Given the description of an element on the screen output the (x, y) to click on. 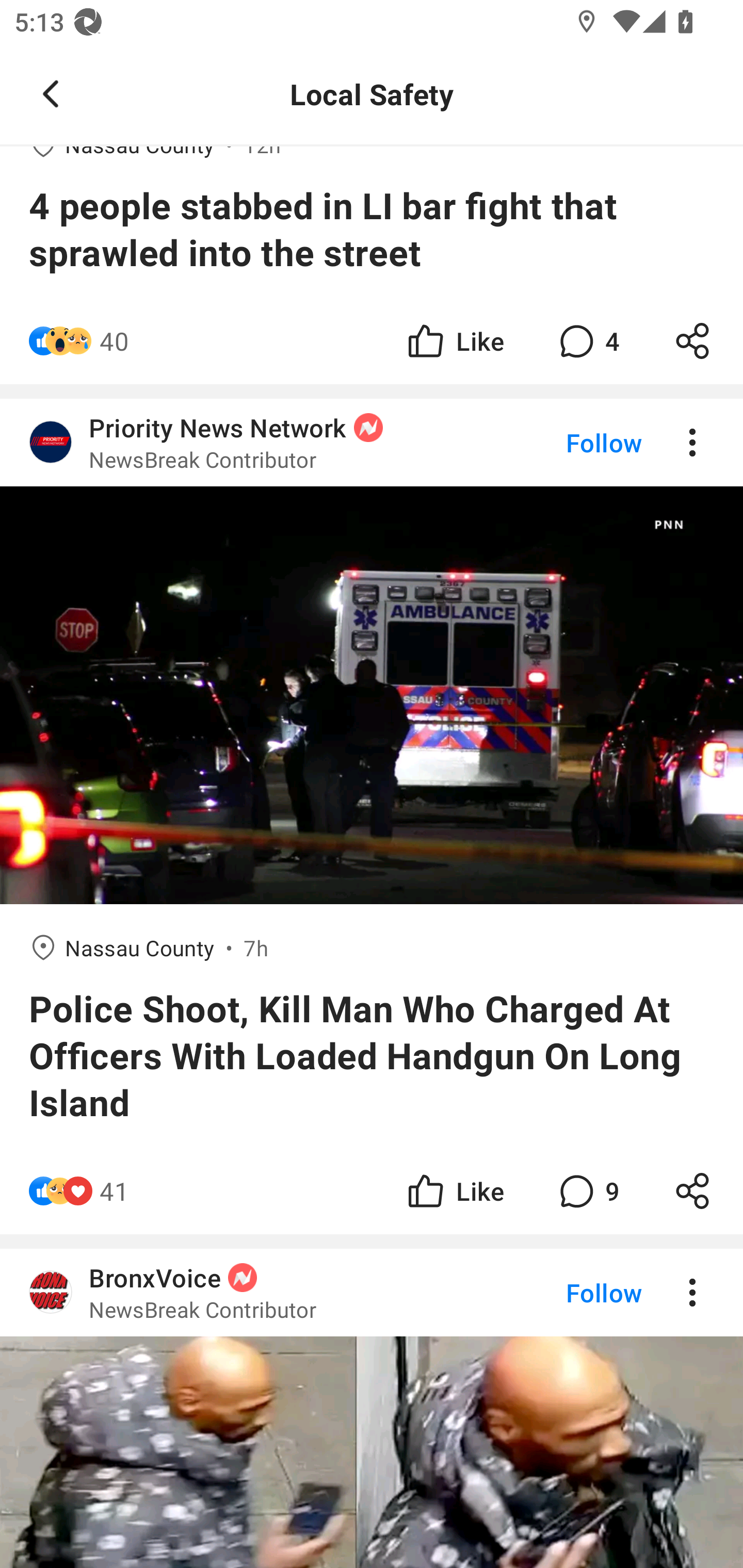
Navigate up (50, 93)
40 (114, 340)
Like (454, 340)
4 (587, 340)
Priority News Network NewsBreak Contributor Follow (371, 442)
Follow (569, 442)
41 (114, 1190)
Like (454, 1190)
9 (587, 1190)
BronxVoice NewsBreak Contributor Follow (371, 1408)
BronxVoice NewsBreak Contributor Follow (371, 1291)
Follow (569, 1291)
